Given the description of an element on the screen output the (x, y) to click on. 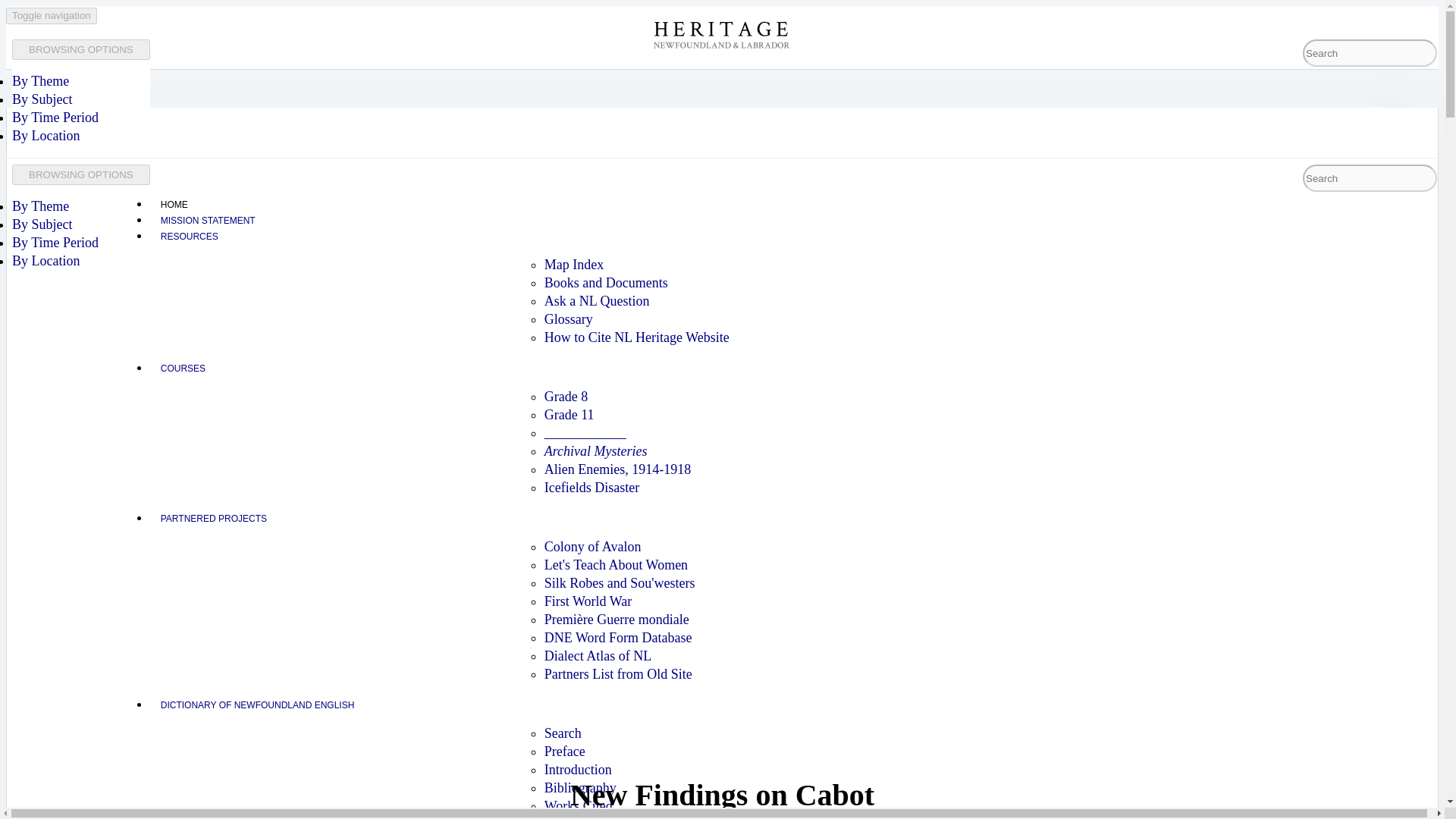
By Location (45, 135)
Icefields Disaster (591, 487)
PARTNERED PROJECTS (213, 518)
How to Cite NL Heritage Website (636, 337)
MISSION STATEMENT (207, 220)
DNE Word Form Database (618, 637)
HOME (173, 204)
Archival Mysteries (595, 450)
DICTIONARY OF NEWFOUNDLAND ENGLISH (257, 705)
By Subject (41, 99)
